Given the description of an element on the screen output the (x, y) to click on. 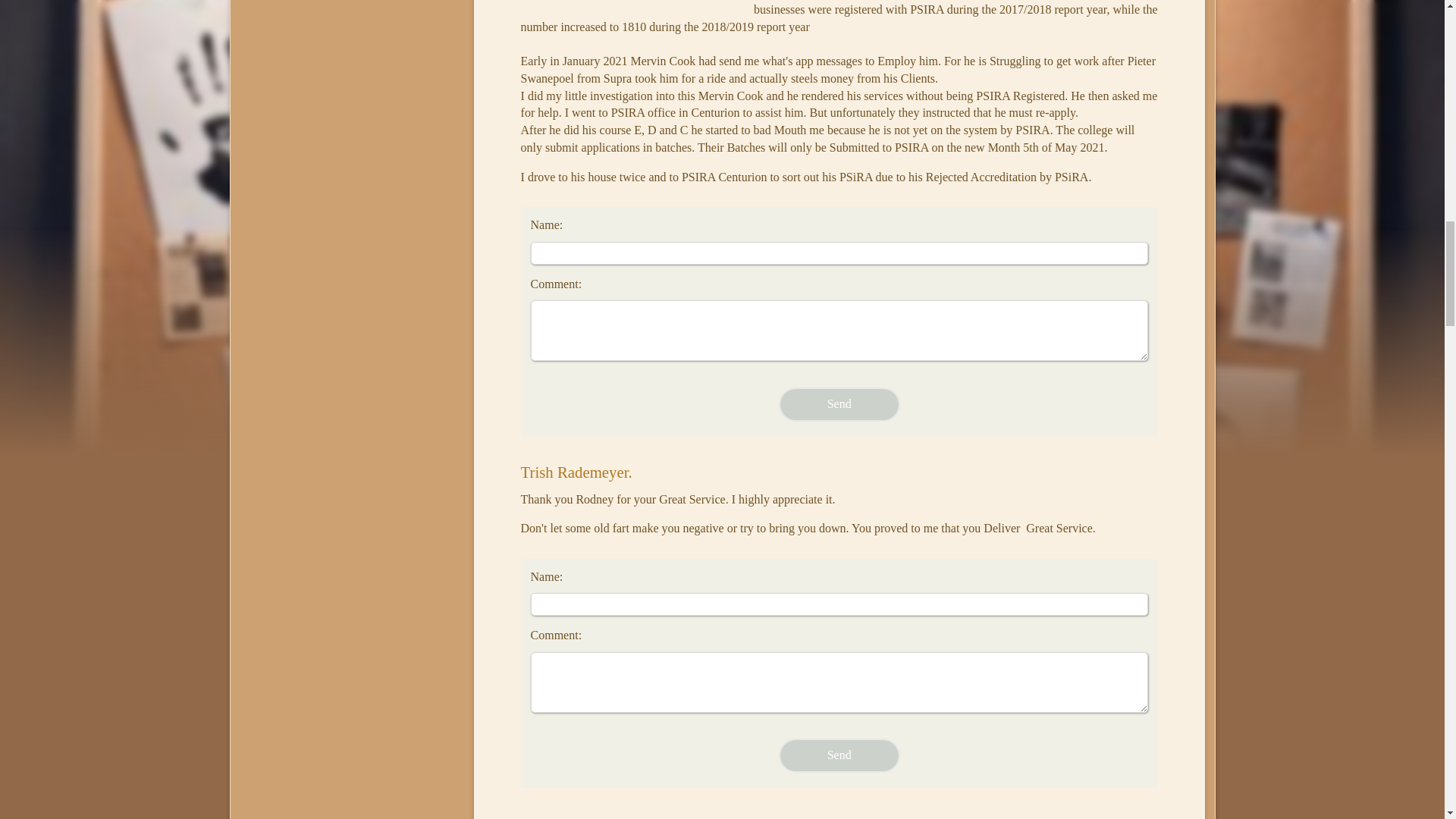
Send (838, 755)
Send (838, 404)
Send (838, 755)
Send (838, 404)
